Given the description of an element on the screen output the (x, y) to click on. 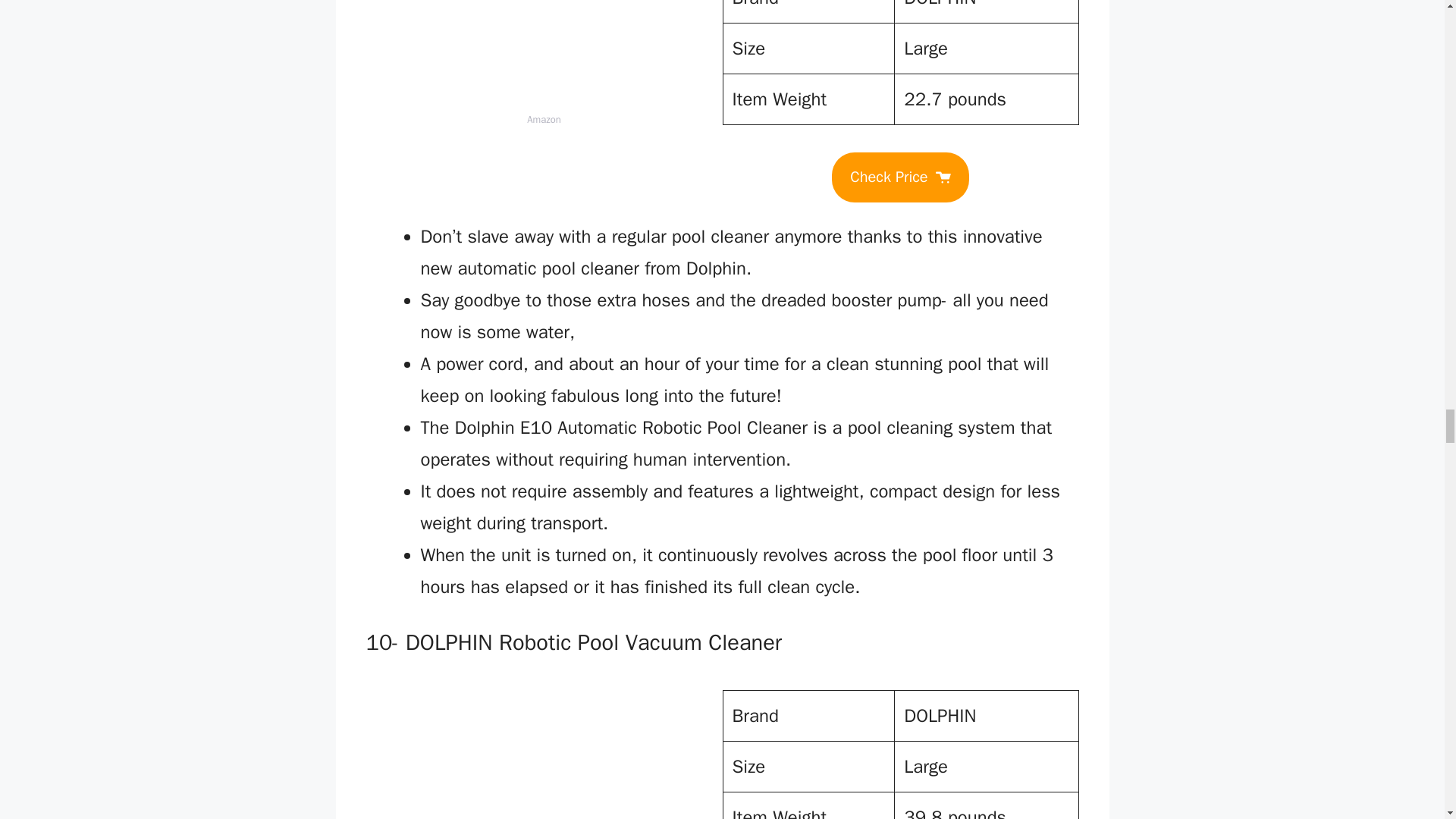
Check Price (899, 177)
